Given the description of an element on the screen output the (x, y) to click on. 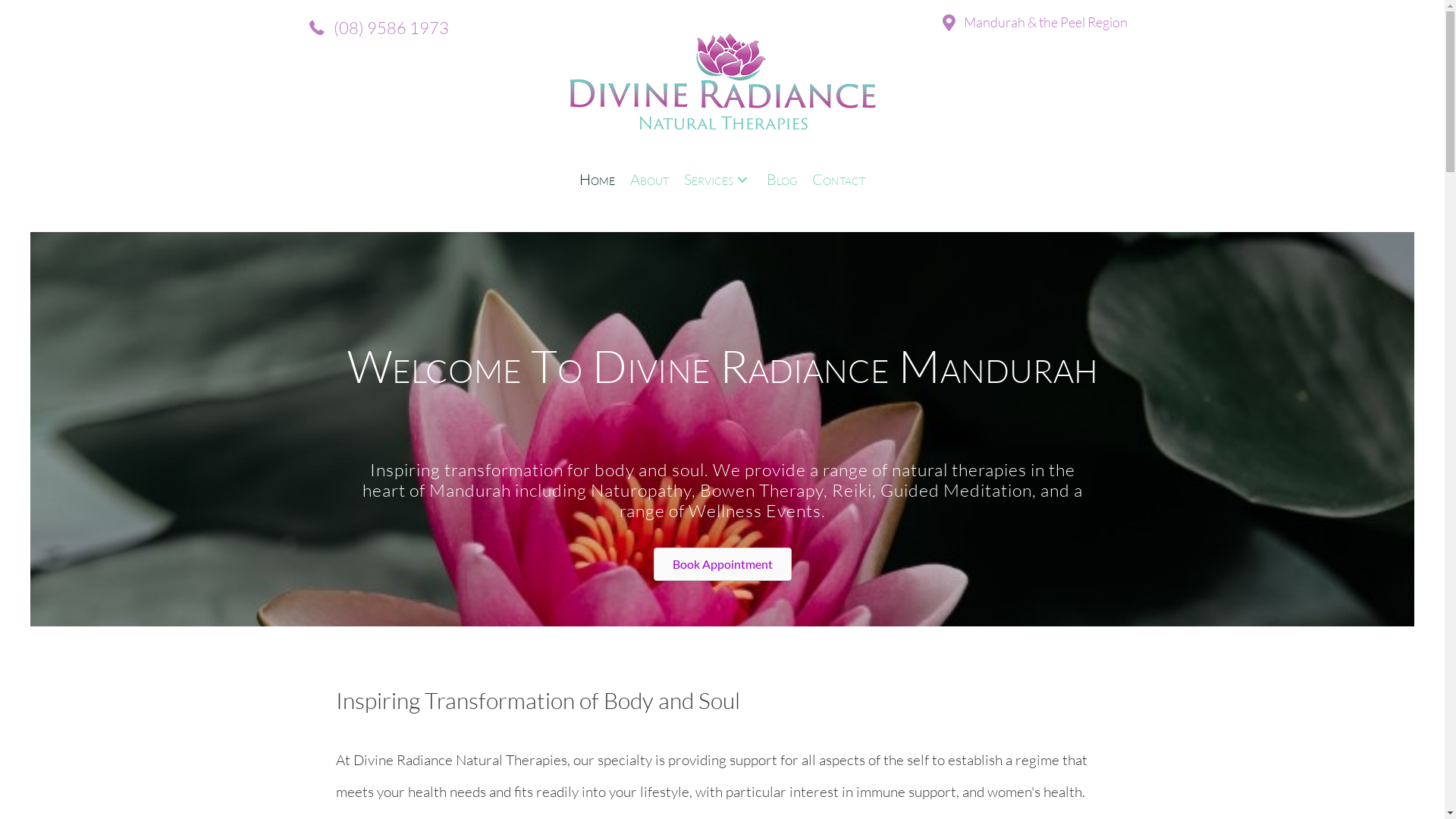
Divine Radiance Logo Element type: hover (722, 100)
Services Element type: text (717, 179)
Mandurah & the Peel Region Element type: text (1034, 21)
Home Element type: text (596, 179)
Book Appointment Element type: text (722, 563)
Blog Element type: text (781, 179)
(08) 9586 1973 Element type: text (377, 27)
Contact Element type: text (838, 179)
About Element type: text (649, 179)
